Given the description of an element on the screen output the (x, y) to click on. 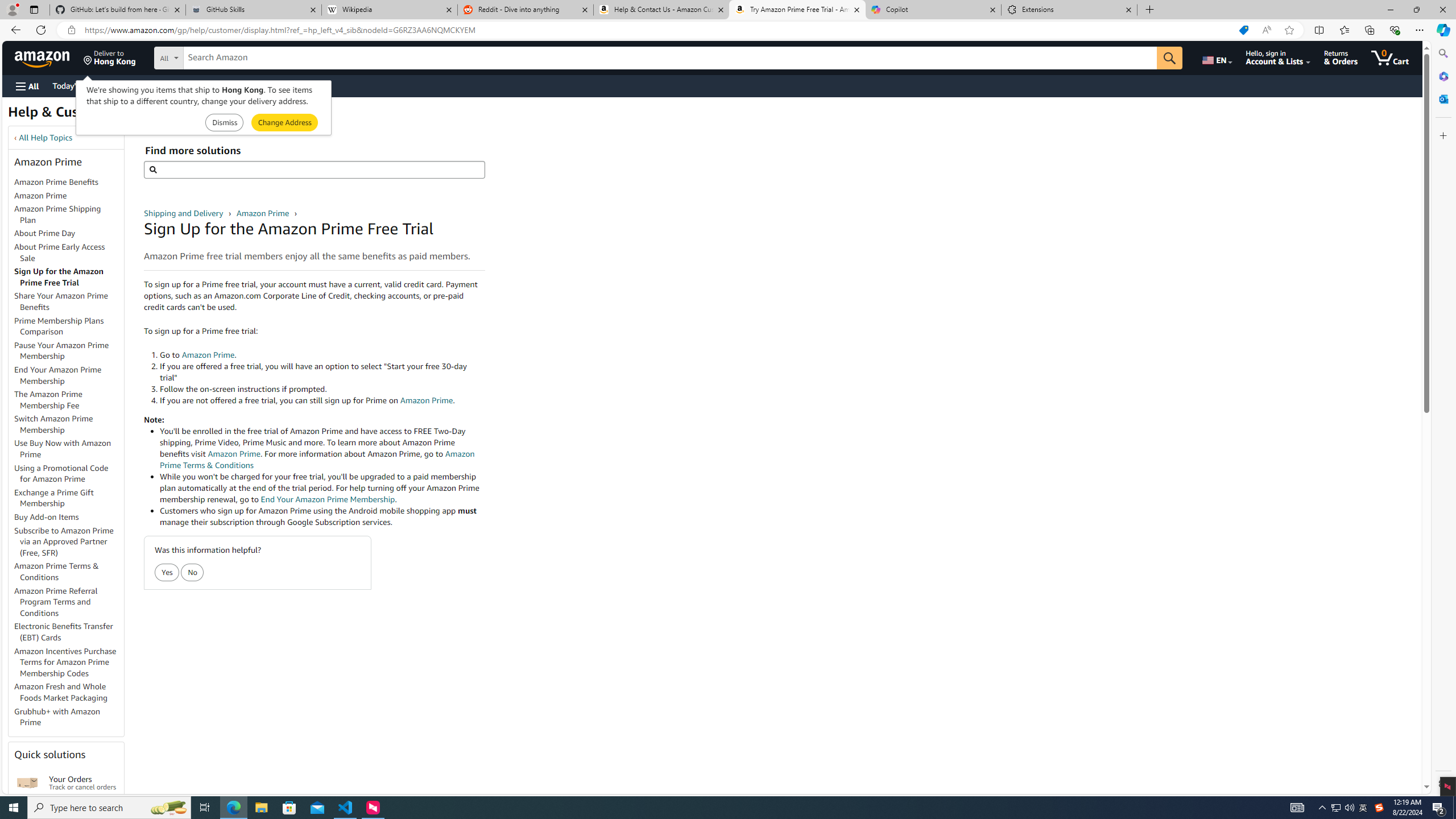
Favorites (1344, 29)
Pause Your Amazon Prime Membership (61, 350)
0 items in cart (1389, 57)
Today's Deals (76, 85)
Customize (1442, 135)
Amazon Prime Referral Program Terms and Conditions (68, 602)
Gift Cards (251, 85)
Tab actions menu (33, 9)
App bar (728, 29)
Go (1169, 57)
Use Buy Now with Amazon Prime (68, 449)
Switch Amazon Prime Membership (68, 424)
About Prime Day (68, 233)
